Given the description of an element on the screen output the (x, y) to click on. 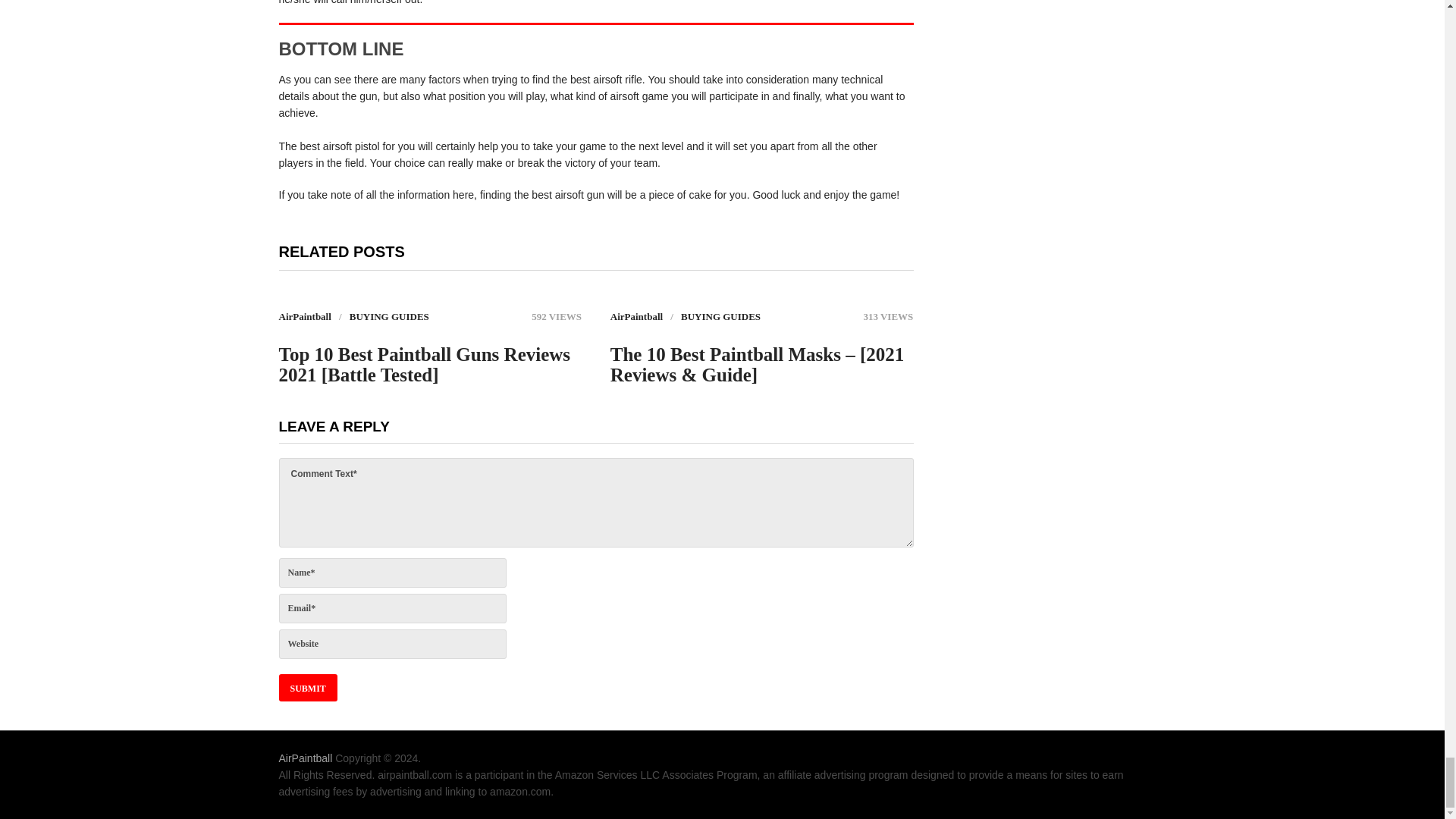
AirPaintball (306, 758)
Posts by AirPaintball (636, 316)
AirPaintball (636, 316)
Submit (308, 687)
Submit (308, 687)
AirPaintball (305, 316)
View all posts in Buying Guides (389, 316)
View all posts in Buying Guides (720, 316)
BUYING GUIDES (720, 316)
Posts by AirPaintball (305, 316)
BUYING GUIDES (389, 316)
